Given the description of an element on the screen output the (x, y) to click on. 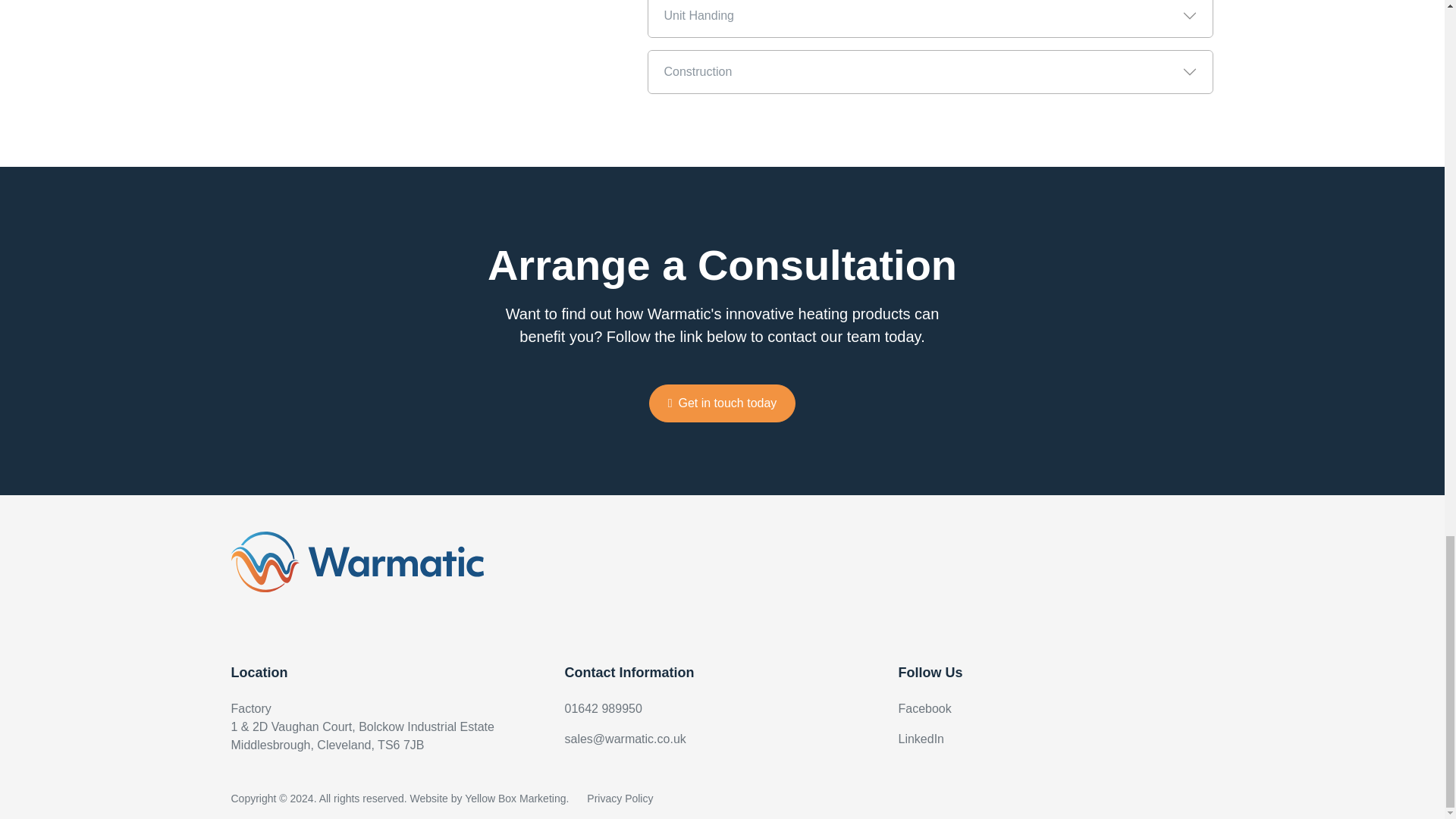
01642 989950 (603, 707)
Get in touch today (722, 403)
Unit Handing (929, 18)
Construction (929, 71)
LinkedIn (920, 738)
Yellow Box Marketing (515, 798)
